Given the description of an element on the screen output the (x, y) to click on. 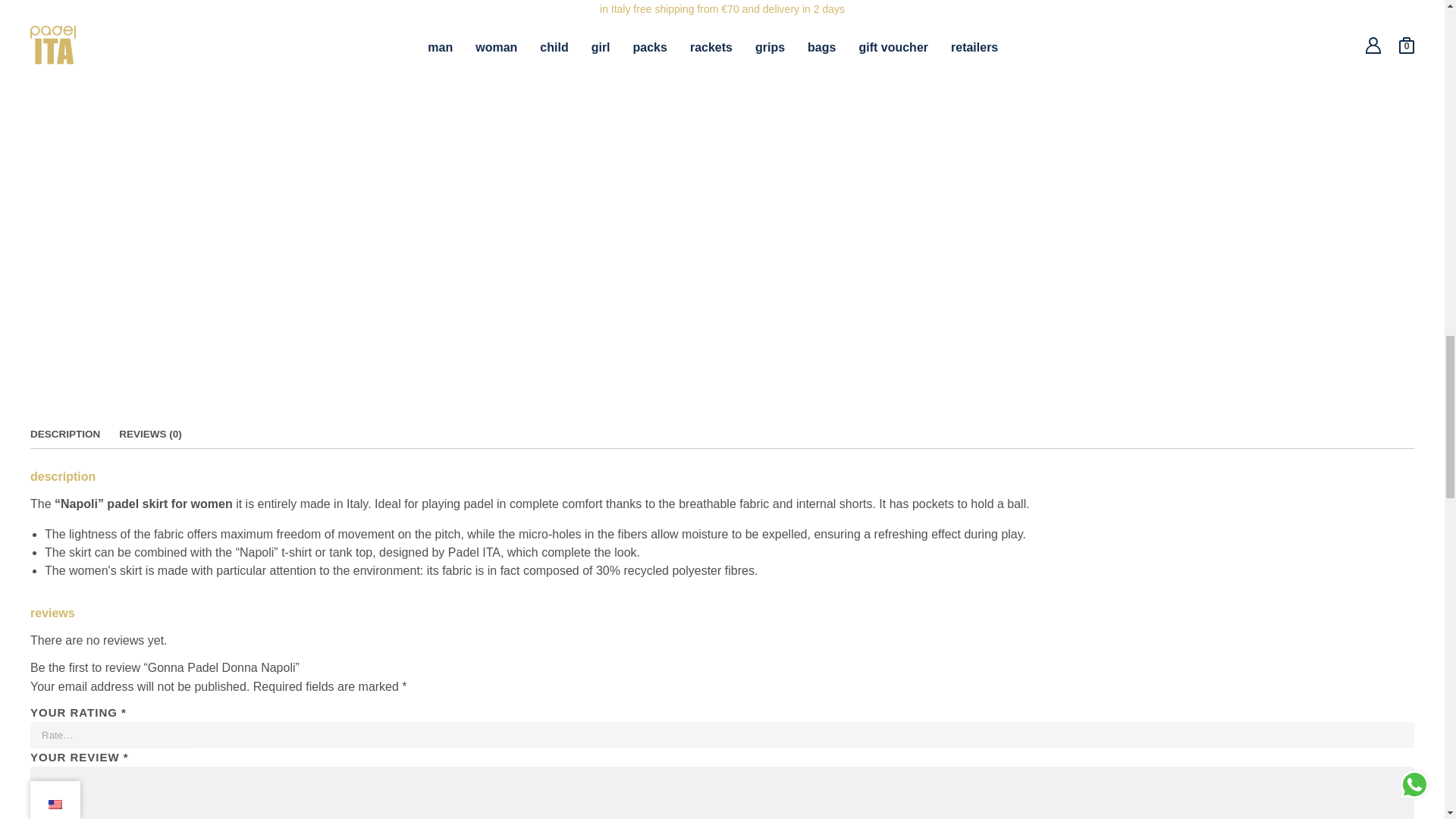
DESCRIPTION (65, 434)
